Given the description of an element on the screen output the (x, y) to click on. 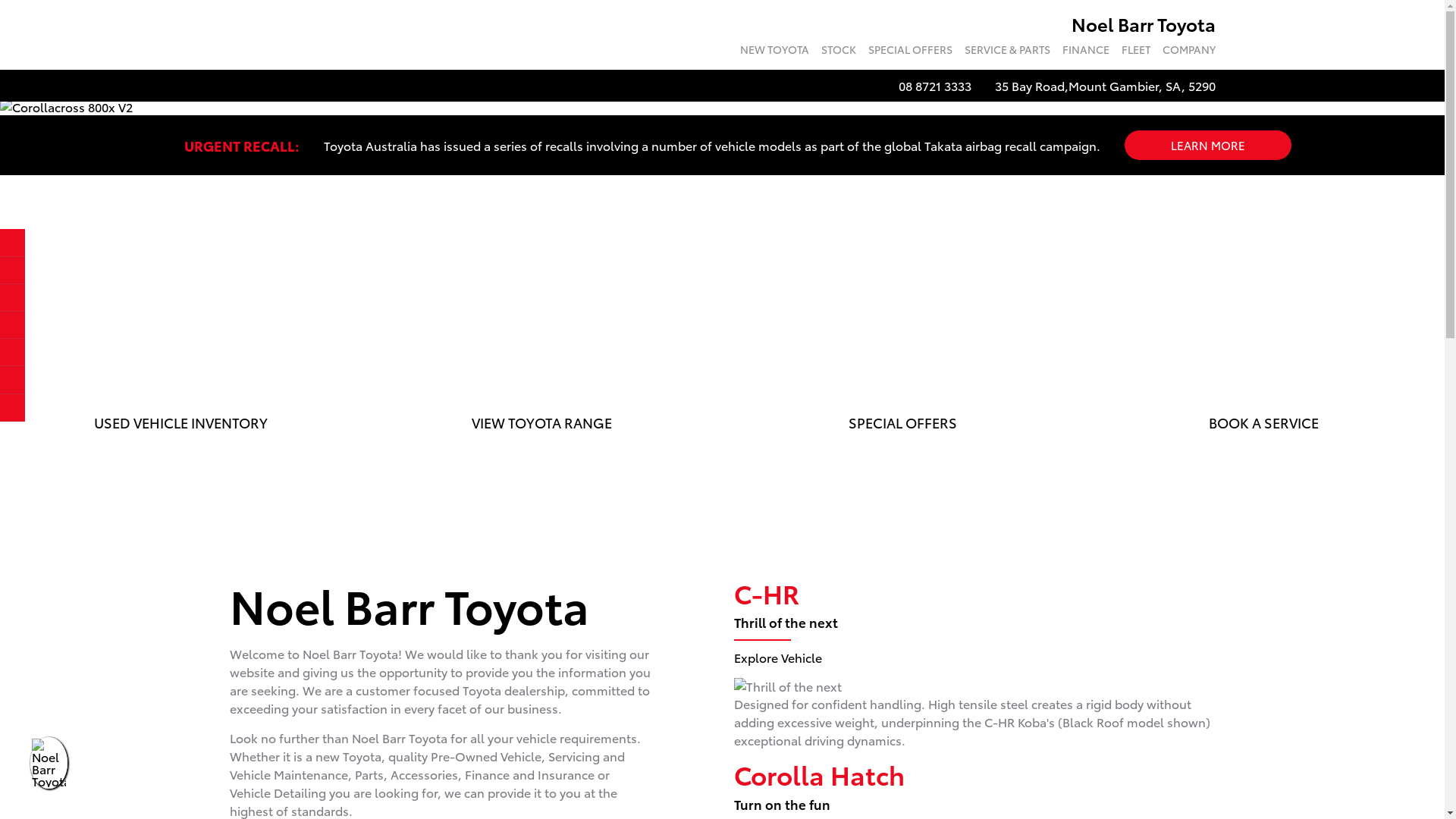
08 8721 3333 Element type: text (933, 85)
35 Bay Road,Mount Gambier, SA, 5290 Element type: text (1104, 85)
FINANCE Element type: text (1084, 51)
Explore Vehicle Element type: text (778, 656)
NEW TOYOTA Element type: text (774, 51)
COMPANY Element type: text (1184, 51)
SERVICE & PARTS Element type: text (1007, 51)
FLEET Element type: text (1134, 51)
SPECIAL OFFERS Element type: text (909, 51)
LEARN MORE Element type: text (1206, 145)
STOCK Element type: text (837, 51)
